Given the description of an element on the screen output the (x, y) to click on. 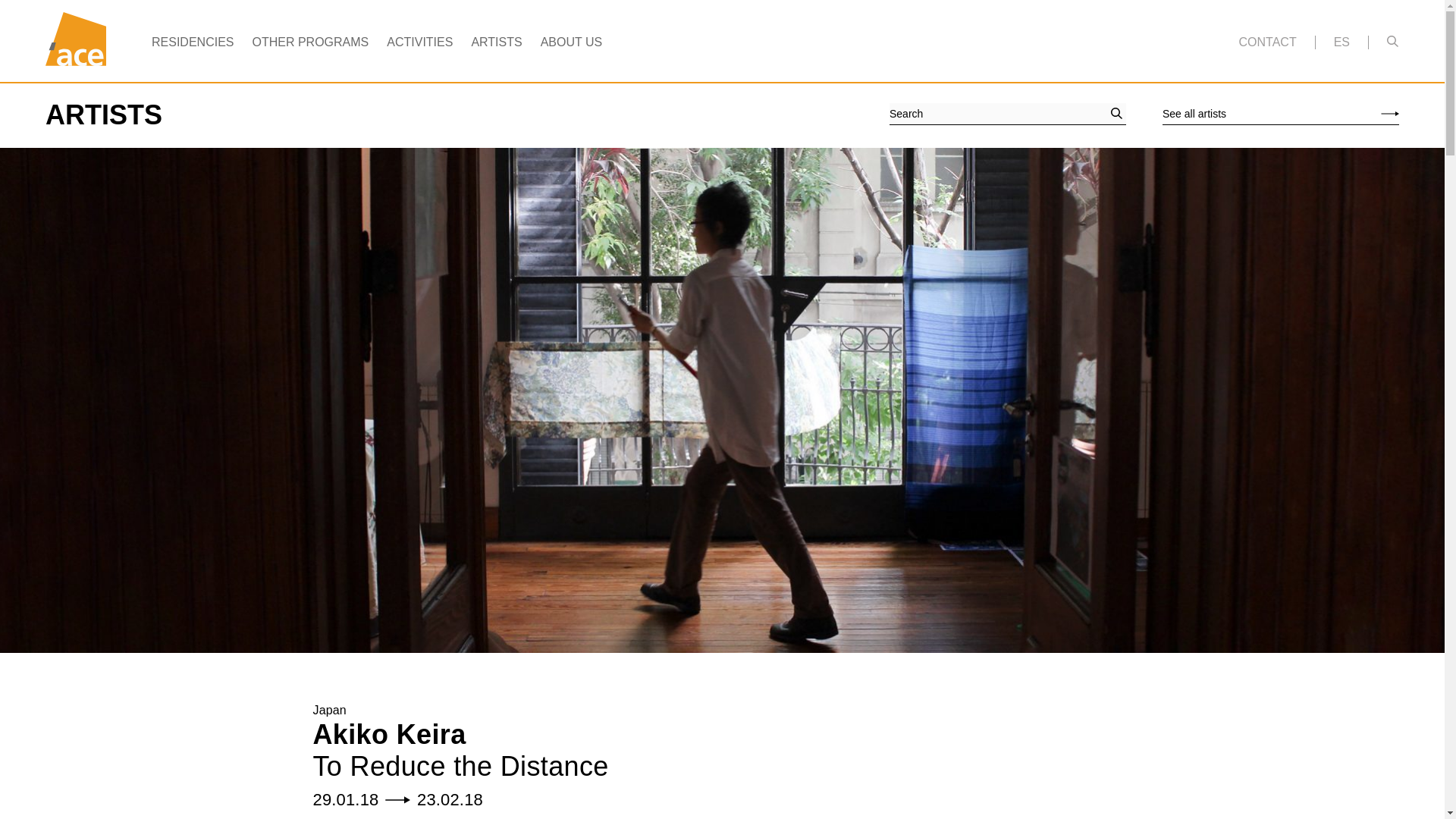
CONTACT (1268, 42)
RESIDENCIES (191, 42)
ABOUT US (571, 42)
ARTISTS (495, 42)
ES (1341, 42)
See all artists (1280, 114)
ACTIVITIES (419, 42)
OTHER PROGRAMS (309, 42)
